Given the description of an element on the screen output the (x, y) to click on. 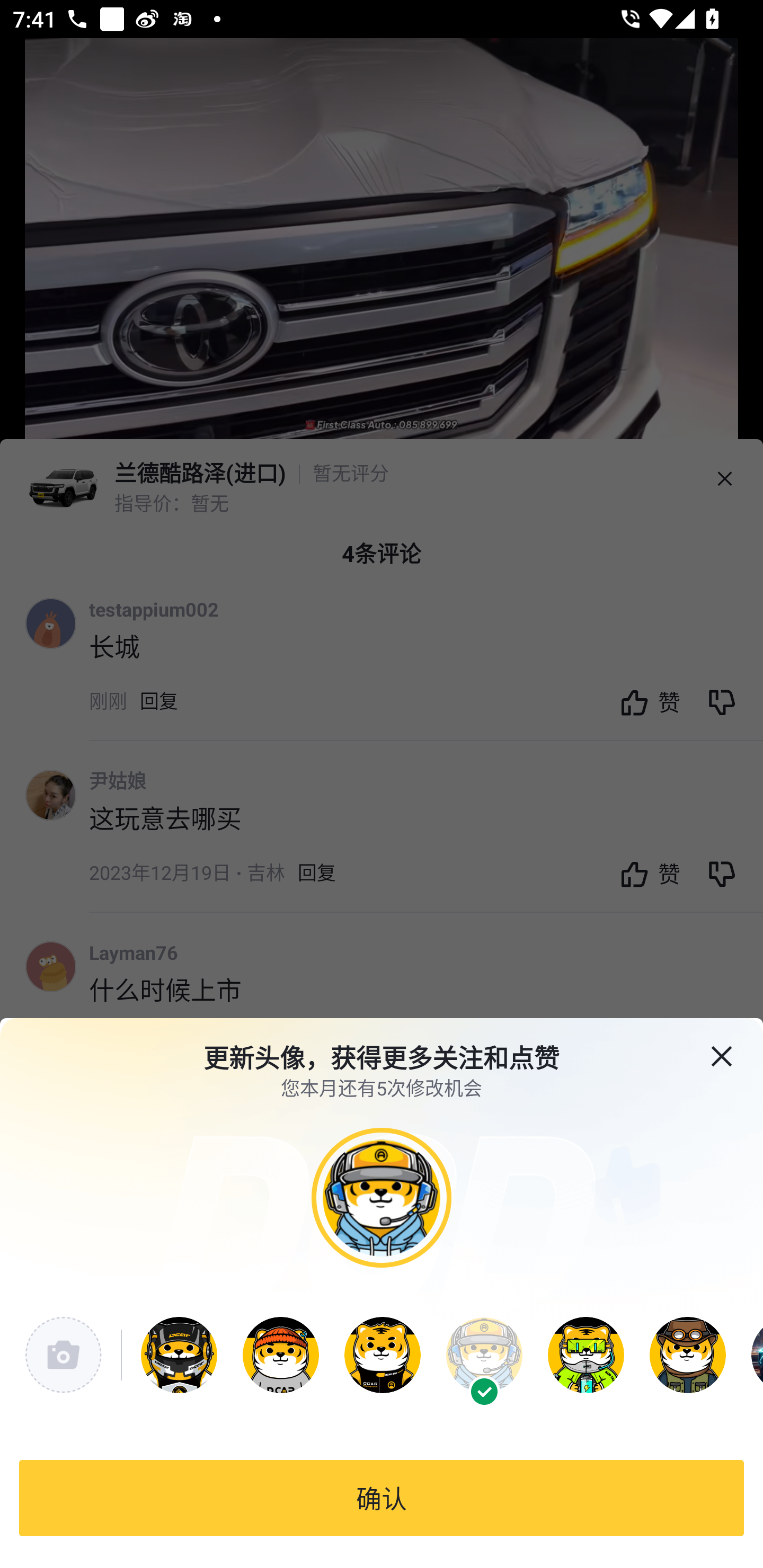
 (734, 1044)
确认 (381, 1497)
